Given the description of an element on the screen output the (x, y) to click on. 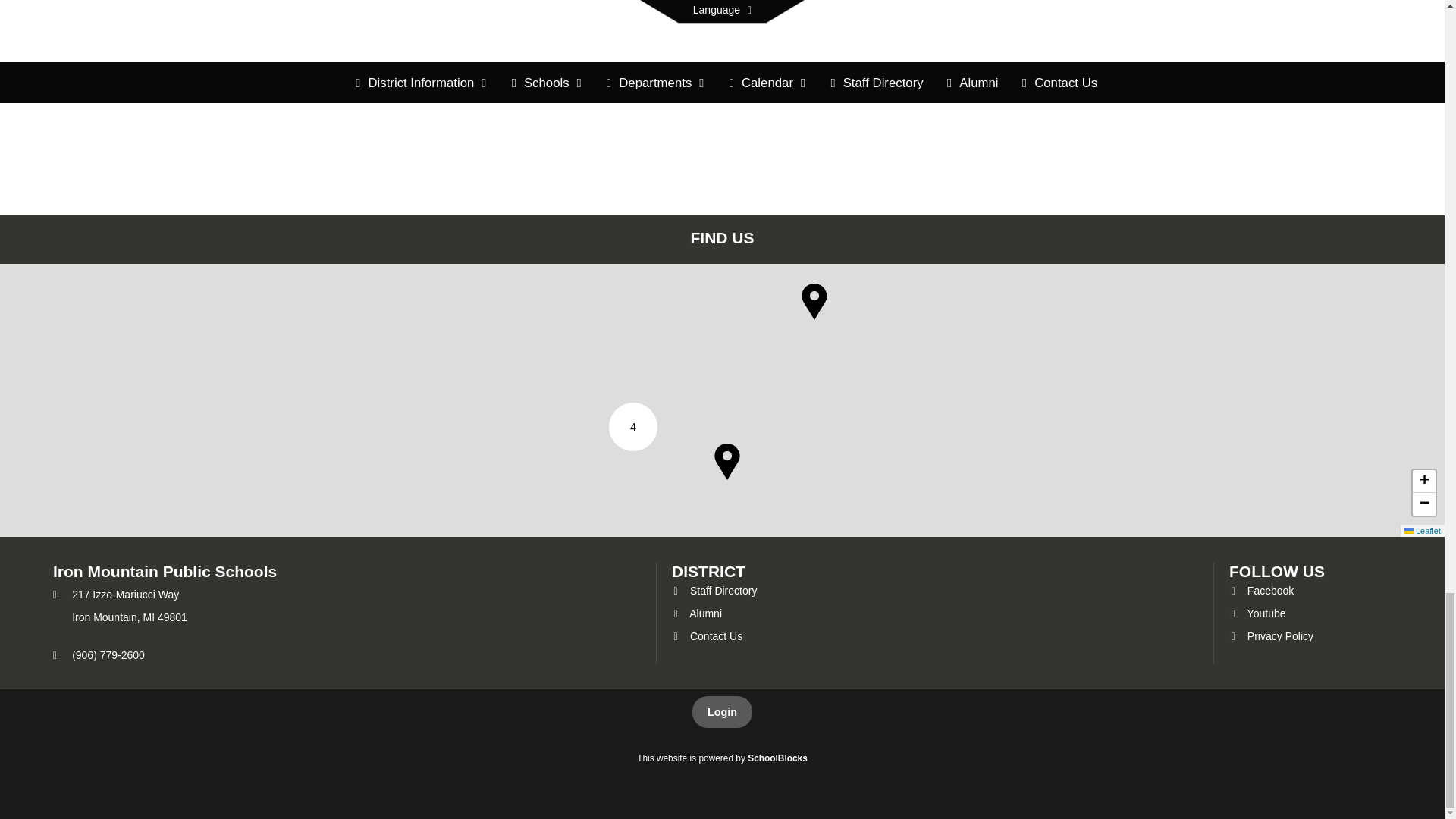
Facebook (1261, 590)
Staff Directory (714, 590)
Privacy Policy (1270, 635)
Zoom in (1423, 481)
Contact Us (706, 635)
Zoom out (1423, 504)
Alumni (696, 613)
A JavaScript library for interactive maps (1423, 530)
Youtube (1256, 613)
